Given the description of an element on the screen output the (x, y) to click on. 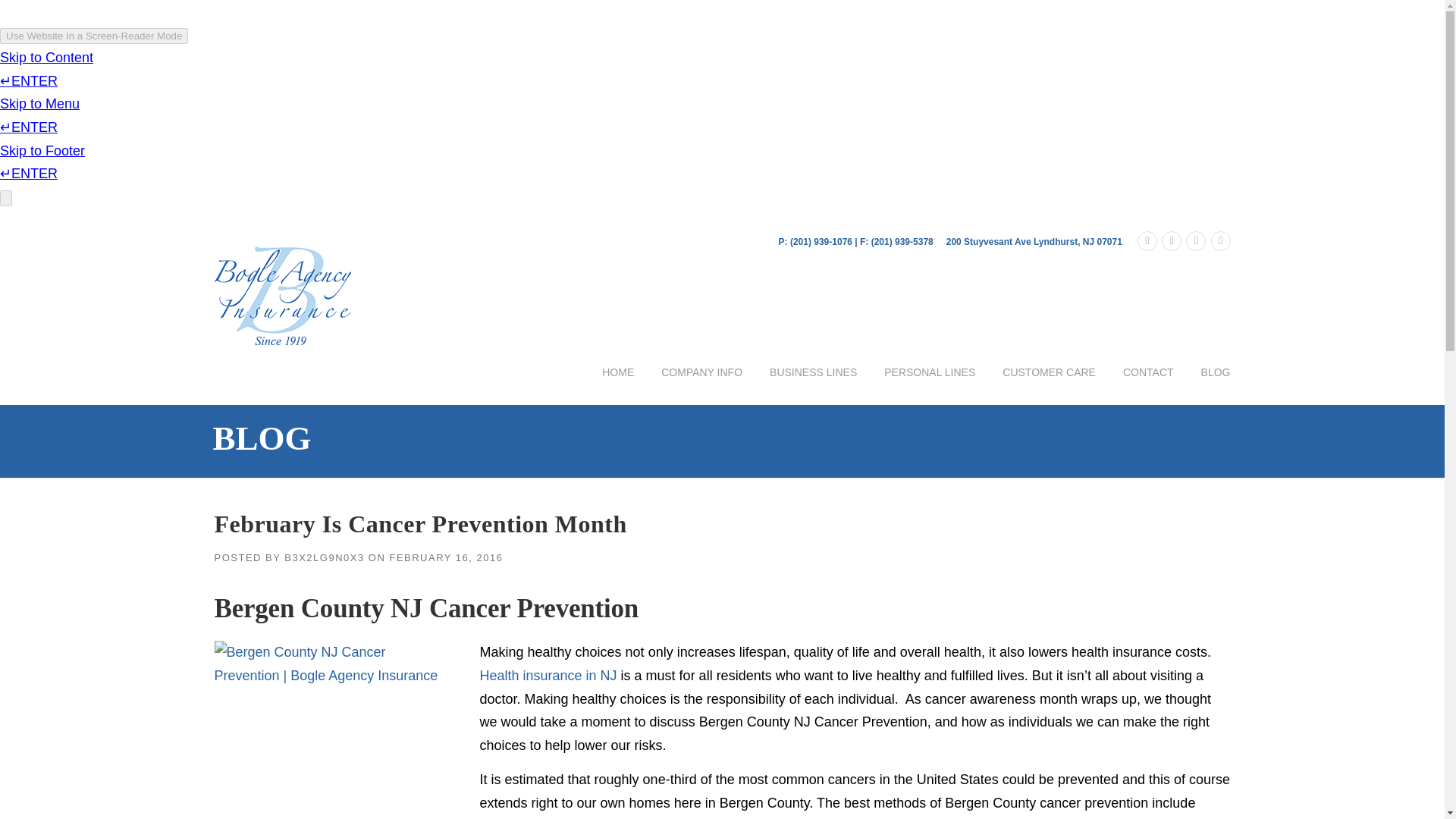
Twitter (1147, 240)
Health insurance in NJ (547, 675)
HOME (617, 383)
Google Plus (1220, 240)
CONTACT (1148, 383)
PERSONAL LINES (929, 383)
Facebook (1170, 240)
B3X2LG9N0X3 (323, 557)
Bogle Agency Insurance (282, 294)
FEBRUARY 16, 2016 (445, 557)
BUSINESS LINES (812, 383)
BLOG (1209, 383)
Linkedin (1195, 240)
COMPANY INFO (701, 383)
